Given the description of an element on the screen output the (x, y) to click on. 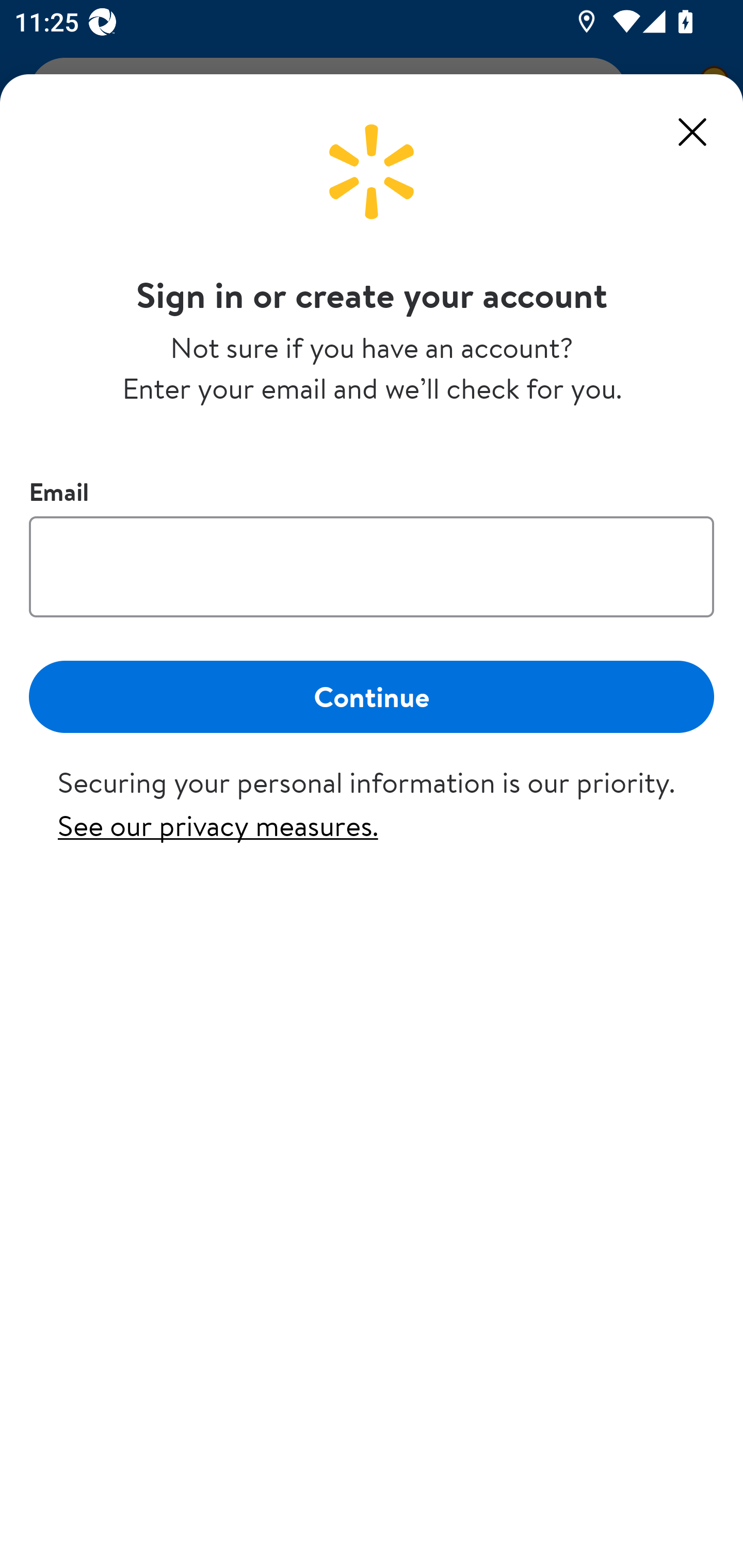
Close (692, 131)
Email (371, 566)
Continue (371, 696)
